Given the description of an element on the screen output the (x, y) to click on. 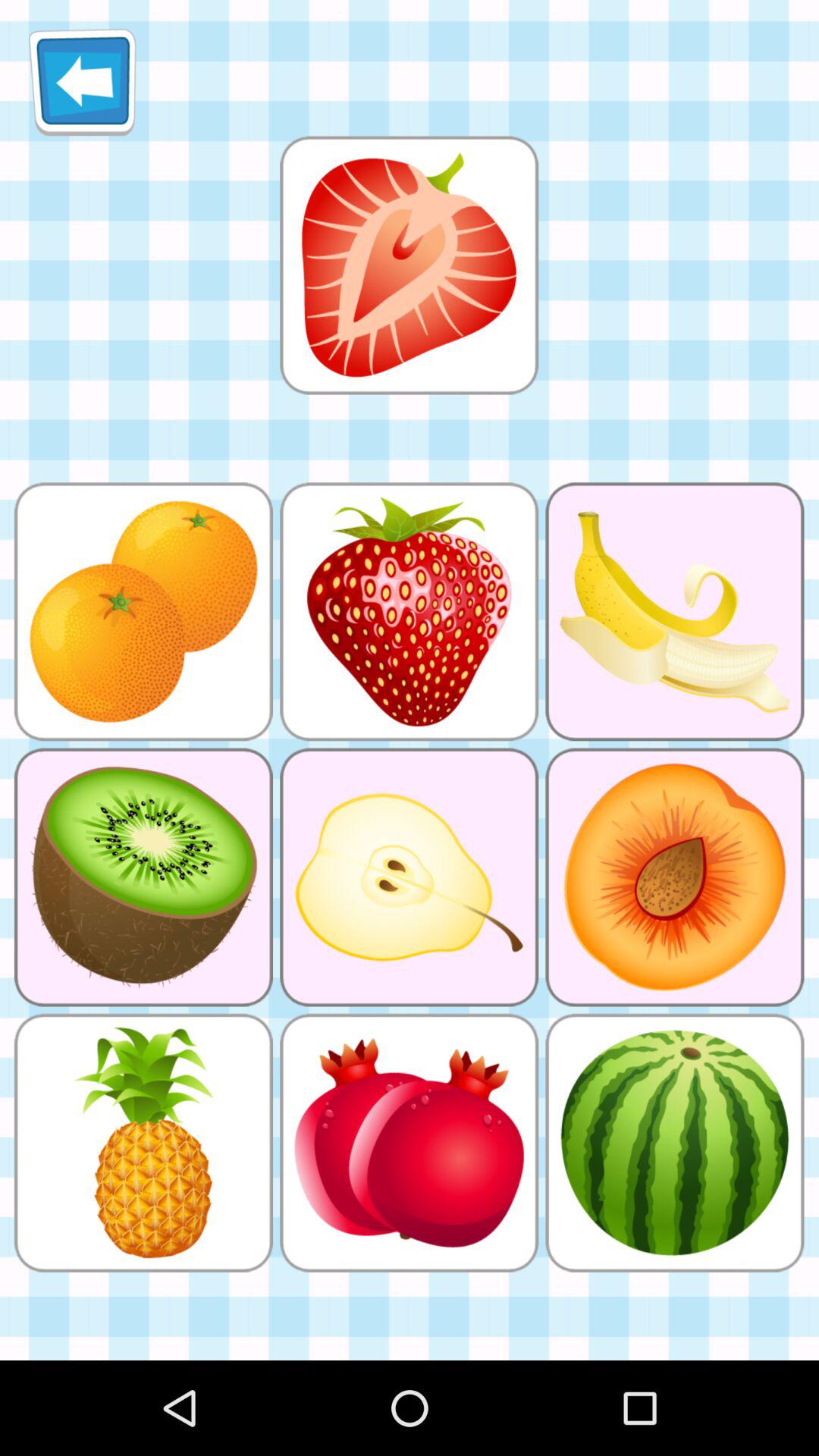
strawberry (409, 265)
